Given the description of an element on the screen output the (x, y) to click on. 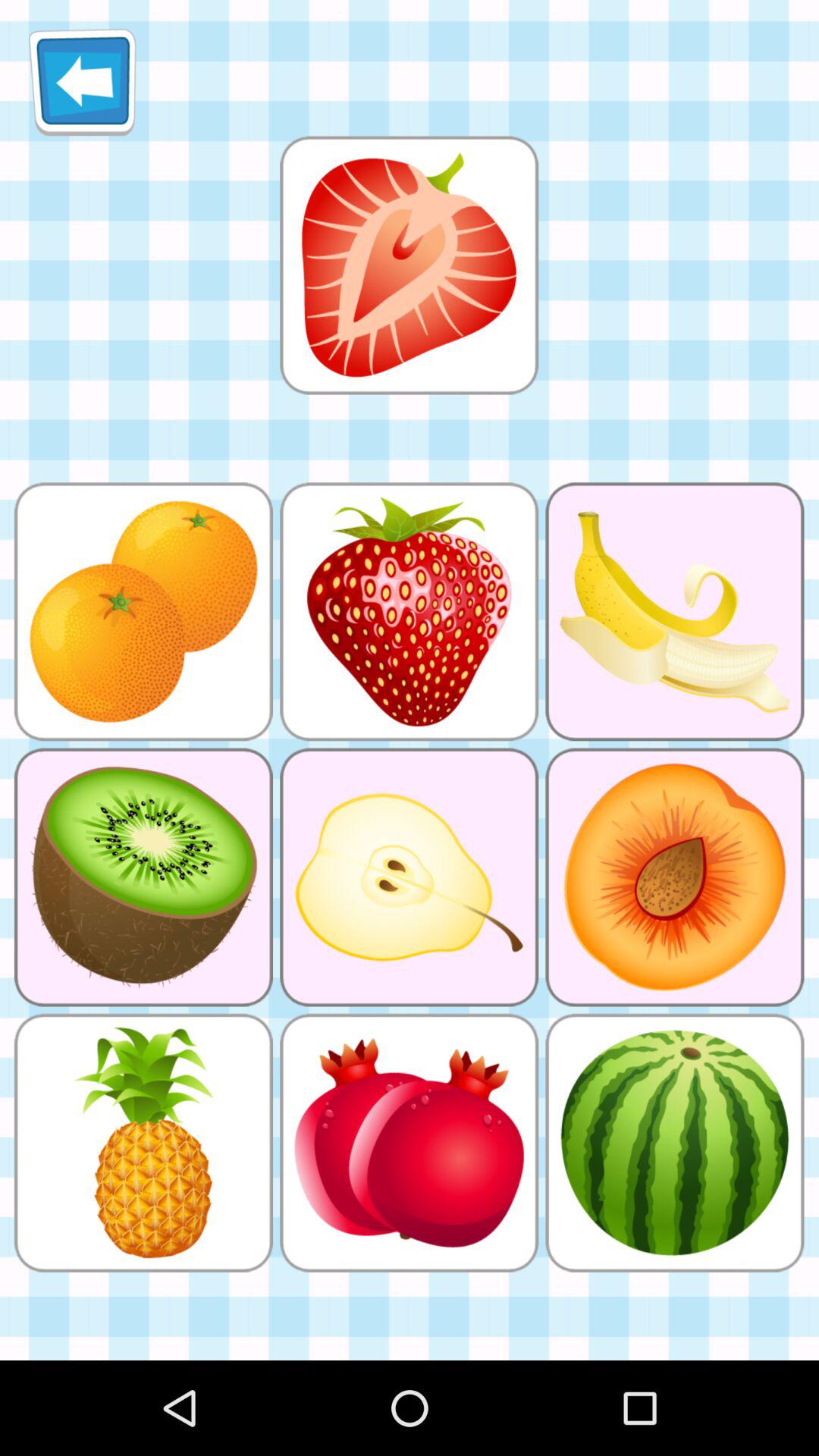
strawberry (409, 265)
